Given the description of an element on the screen output the (x, y) to click on. 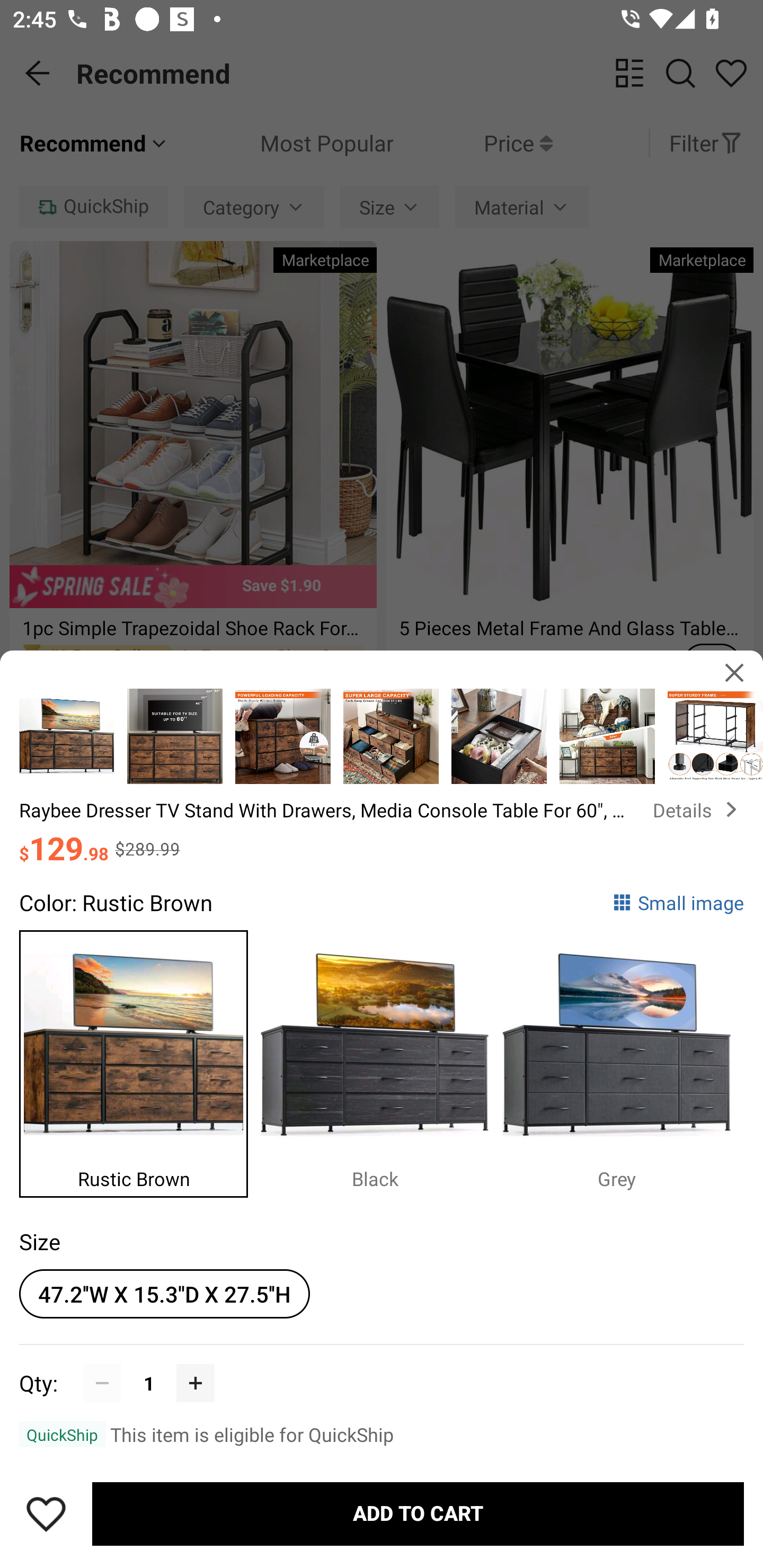
Details (698, 809)
Color: Rustic Brown (115, 902)
Small image (677, 902)
Rustic Brown (139, 1059)
Black (381, 1059)
Grey (622, 1059)
Size (39, 1240)
ADD TO CART (417, 1513)
Save (46, 1513)
